Given the description of an element on the screen output the (x, y) to click on. 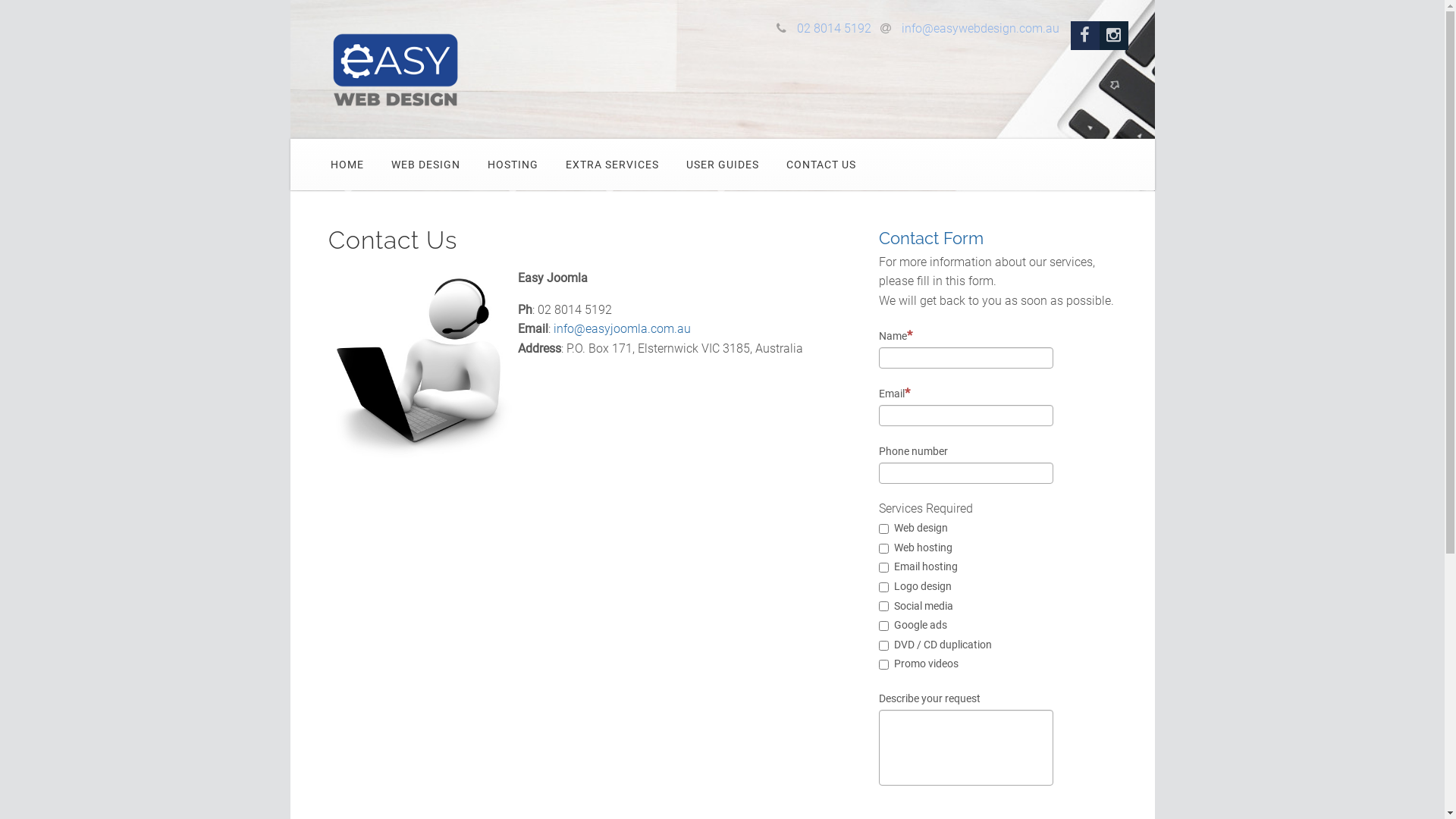
EXTRA SERVICES Element type: text (612, 164)
CONTACT US Element type: text (820, 164)
WEB DESIGN Element type: text (425, 164)
HOSTING Element type: text (512, 164)
Facebook Element type: hover (1084, 35)
Instagram Element type: hover (1113, 35)
USER GUIDES Element type: text (721, 164)
info@easyjoomla.com.au Element type: text (621, 328)
HOME Element type: text (346, 164)
